Given the description of an element on the screen output the (x, y) to click on. 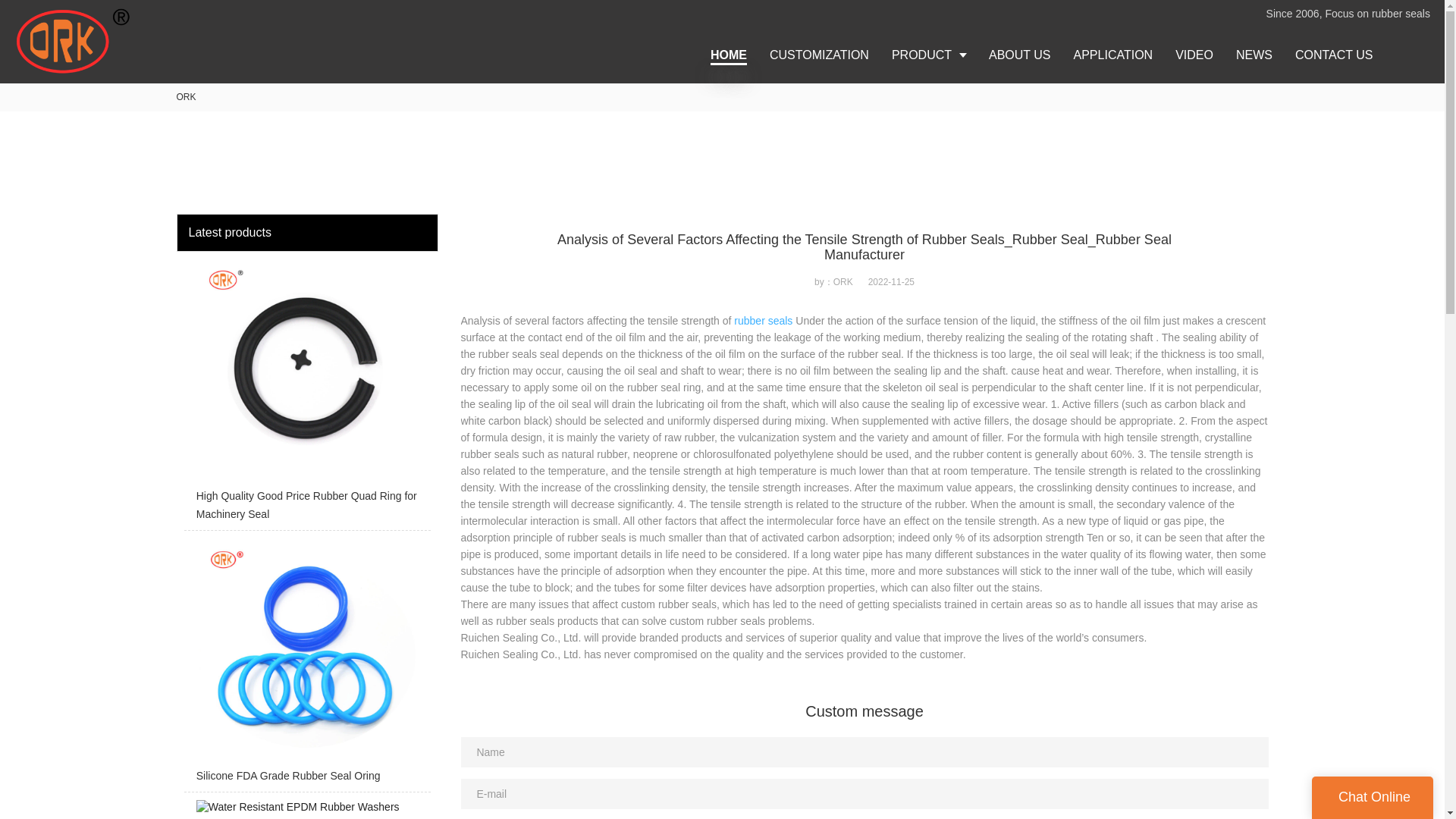
PRODUCT (928, 55)
Silicone FDA Grade Rubber Seal Oring (306, 664)
rubber seals (762, 320)
CUSTOMIZATION (819, 55)
High Quality Good Price Rubber Quad Ring for Machinery Seal (306, 394)
ABOUT US (1019, 55)
VIDEO (1193, 55)
NEWS (1254, 55)
HOME (728, 55)
CONTACT US (1334, 55)
